Given the description of an element on the screen output the (x, y) to click on. 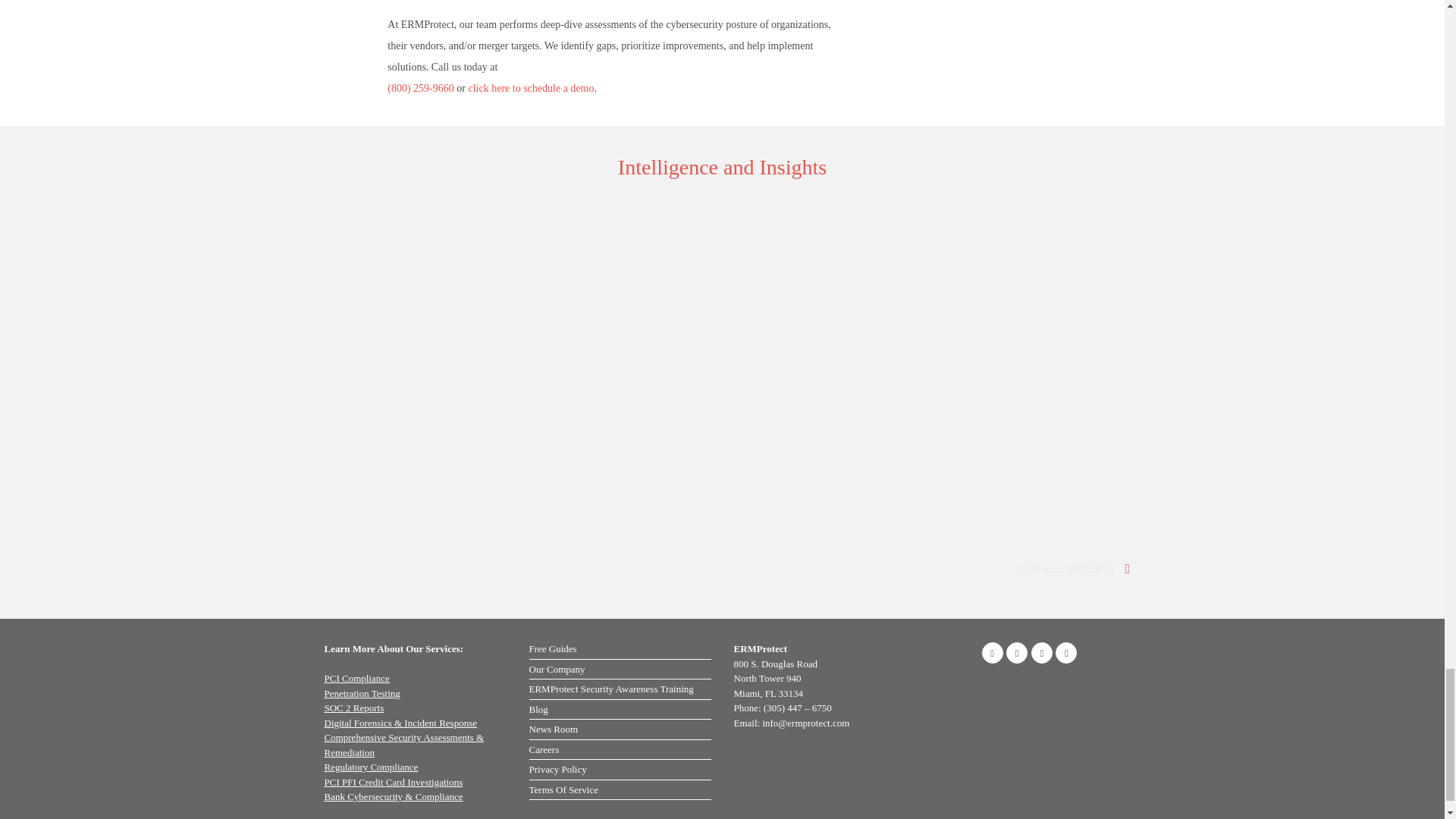
ERMProtect Cybersecurity on Youtube (1066, 652)
ERMProtect Cybersecurity on X Twitter (1041, 652)
ERMProtect Cybersecurity on Linkedin (1016, 652)
ERMProtect Cybersecurity on Facebook (992, 652)
